Given the description of an element on the screen output the (x, y) to click on. 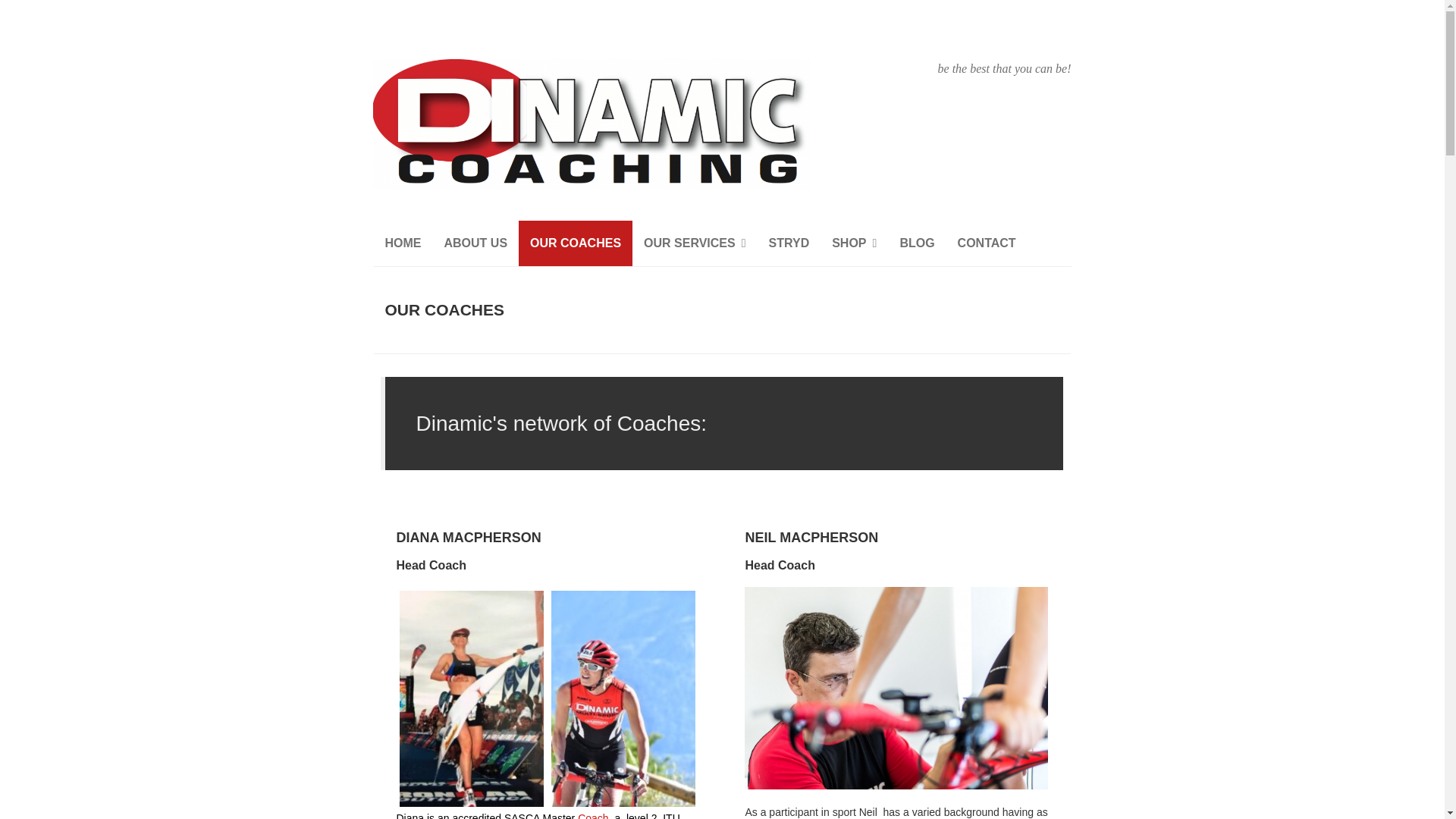
CONTACT (986, 243)
HOME (402, 243)
OUR COACHES (574, 243)
Coach (593, 815)
BLOG (916, 243)
ABOUT US (475, 243)
SHOP (854, 243)
OUR SERVICES (694, 243)
STRYD (789, 243)
